Given the description of an element on the screen output the (x, y) to click on. 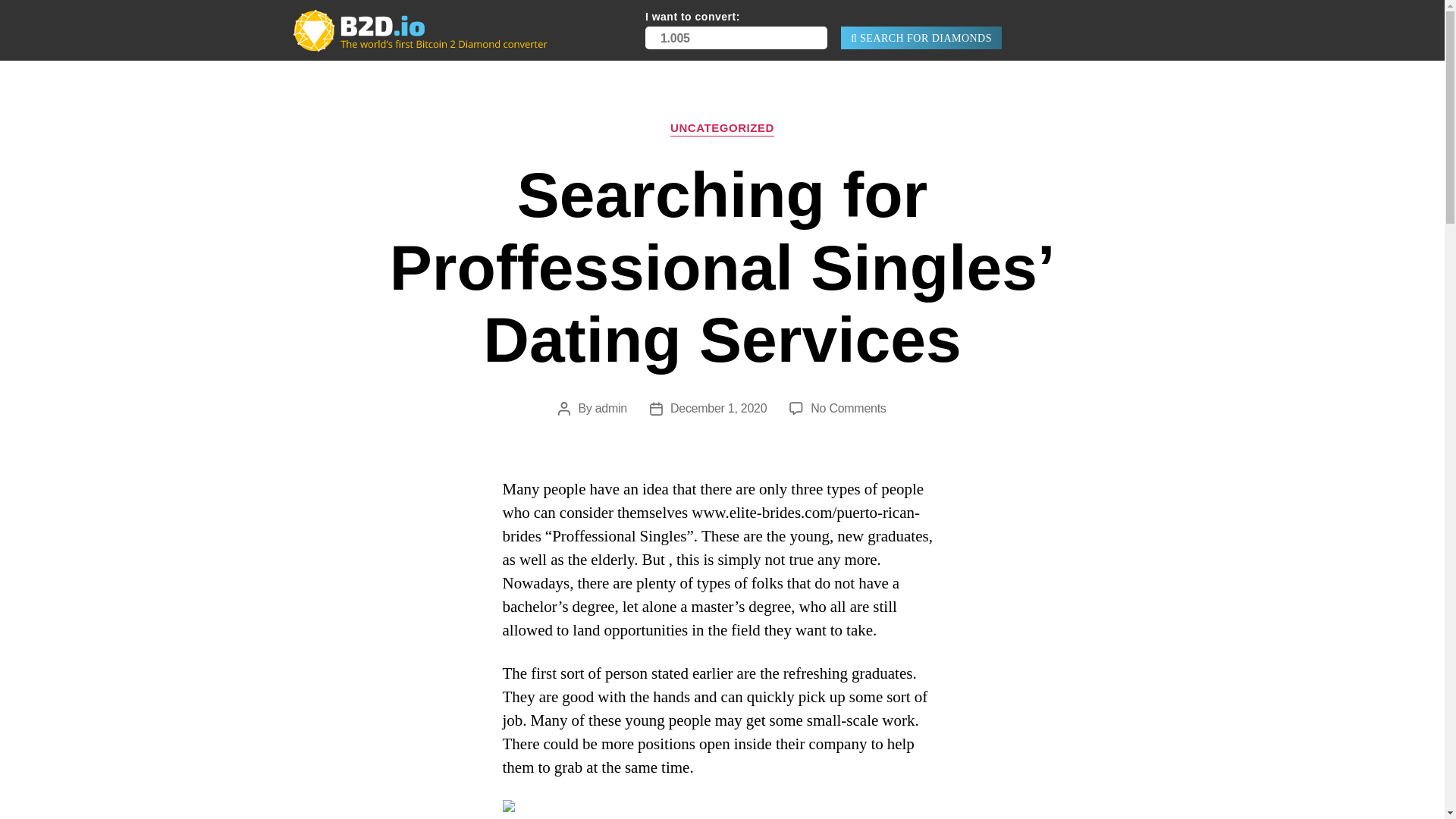
admin (611, 408)
UNCATEGORIZED (721, 128)
December 1, 2020 (718, 408)
SEARCH FOR DIAMONDS (921, 37)
